Given the description of an element on the screen output the (x, y) to click on. 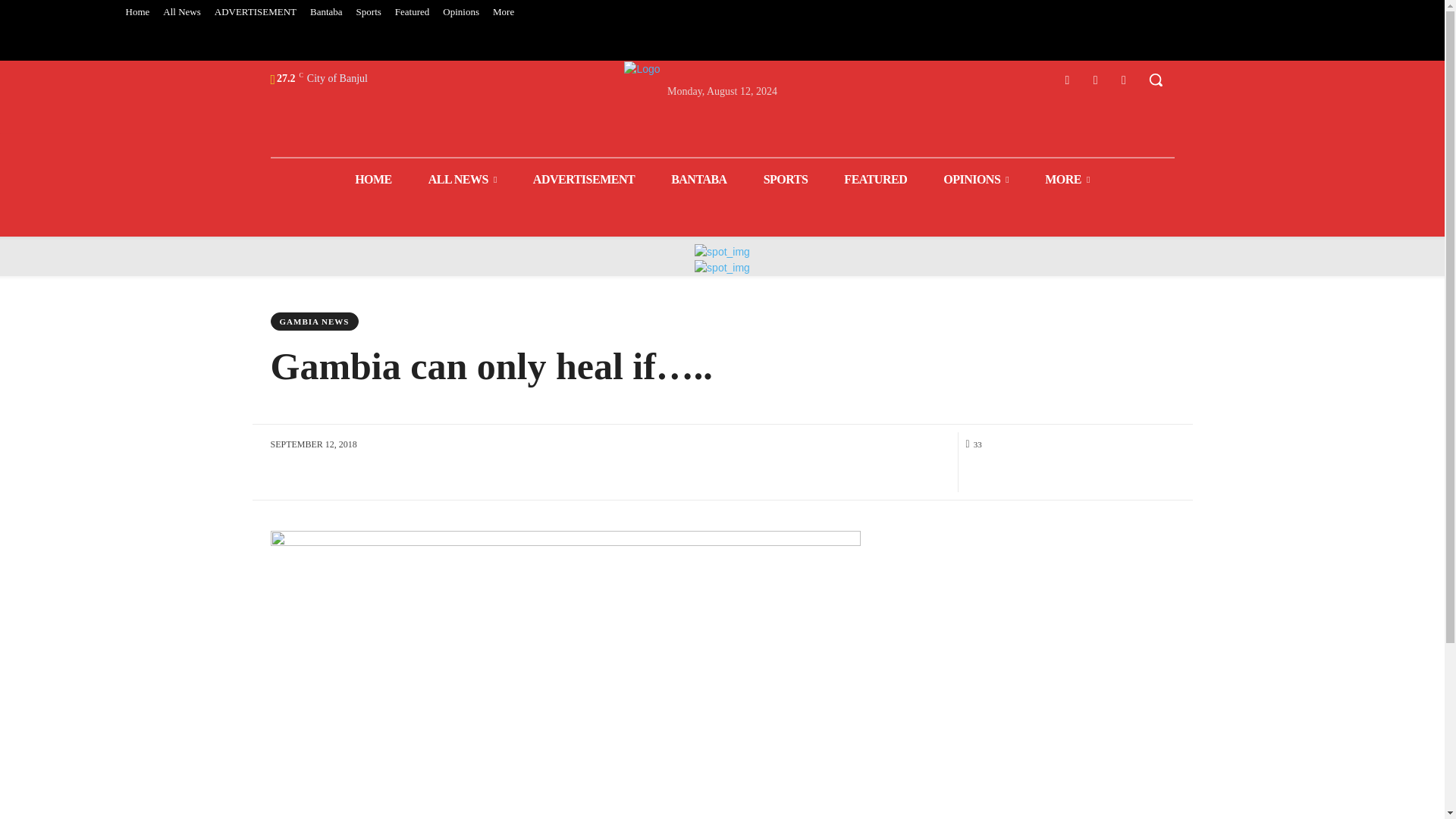
Opinions (460, 12)
Bantaba (325, 12)
Twitter (1094, 79)
ALL NEWS (462, 178)
Featured (411, 12)
More (503, 12)
HOME (373, 178)
Youtube (1123, 79)
ADVERTISEMENT (255, 12)
Facebook (1067, 79)
